Given the description of an element on the screen output the (x, y) to click on. 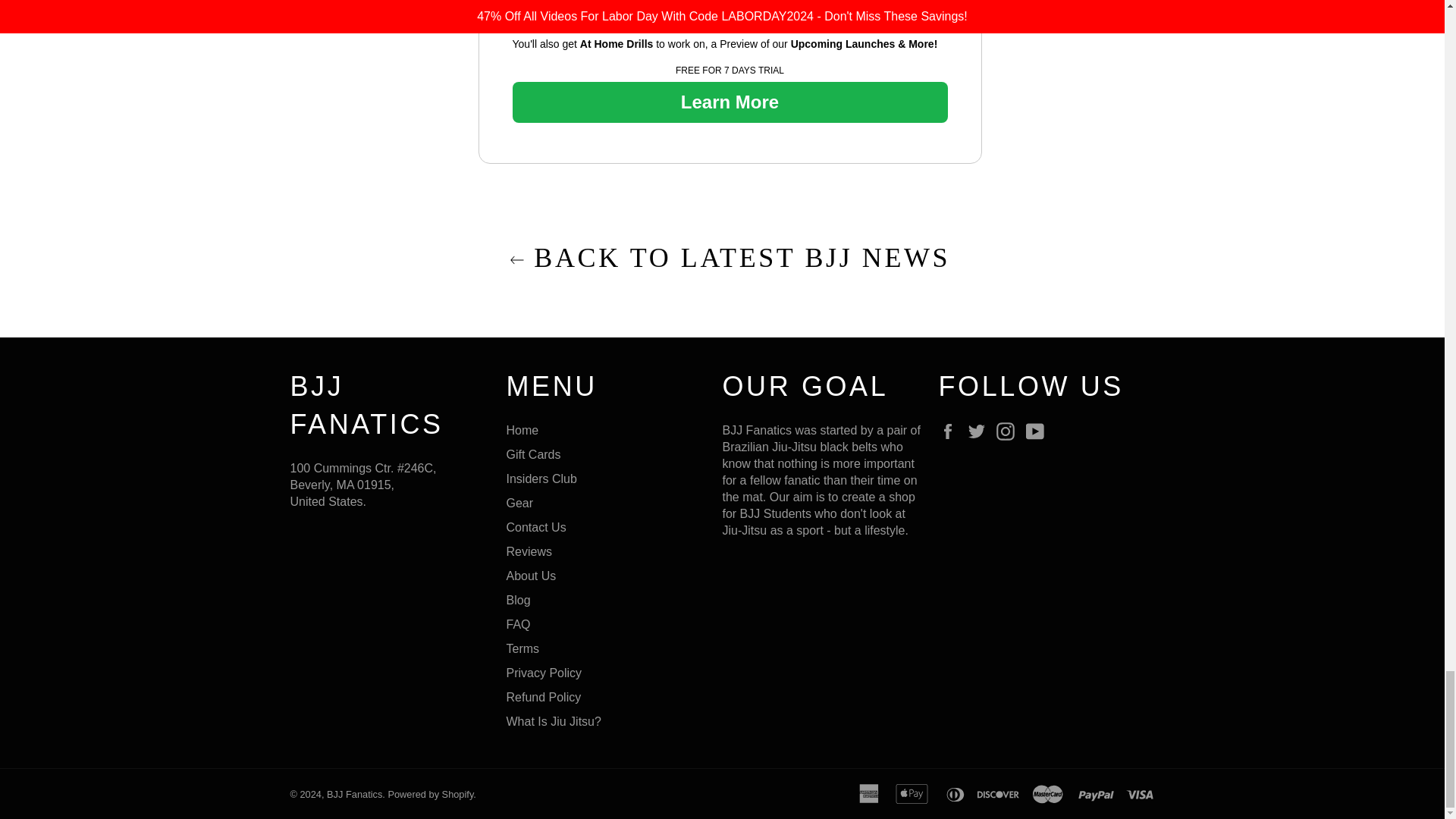
BJJ Fanatics on YouTube (1038, 431)
BJJ Fanatics on Twitter (980, 431)
BJJ Fanatics on Facebook (951, 431)
BJJ Fanatics on Instagram (1008, 431)
